Given the description of an element on the screen output the (x, y) to click on. 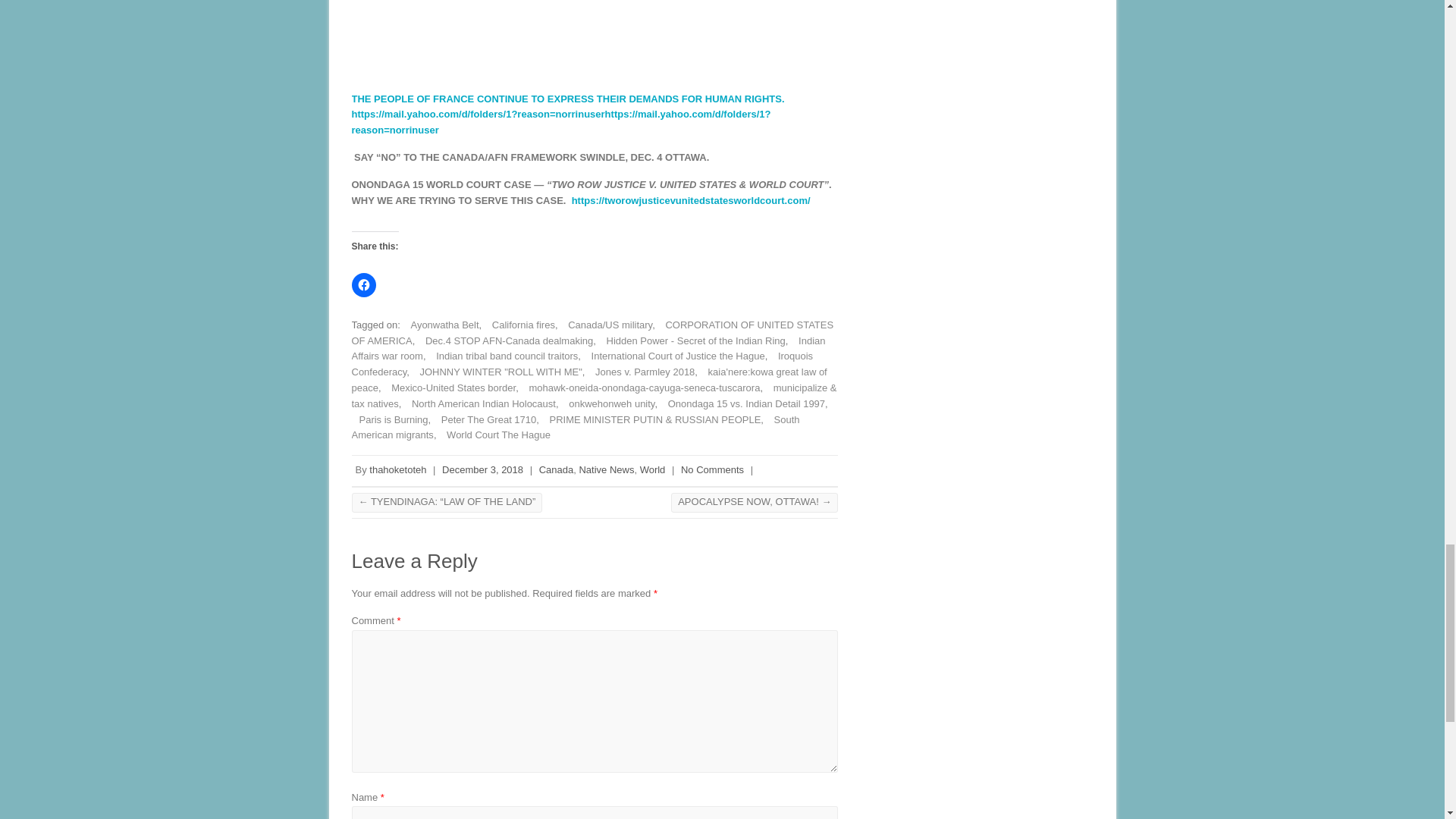
Iroquois Confederacy (582, 363)
International Court of Justice the Hague (674, 355)
Jones v. Parmley 2018 (641, 371)
Ayonwatha Belt (441, 324)
California fires (519, 324)
JOHNNY WINTER "ROLL WITH ME" (496, 371)
kaia'nere:kowa great law of peace (589, 379)
Dec.4 STOP AFN-Canada dealmaking (504, 340)
CORPORATION OF UNITED STATES OF AMERICA (593, 332)
Hidden Power - Secret of the Indian Ring (692, 340)
